Given the description of an element on the screen output the (x, y) to click on. 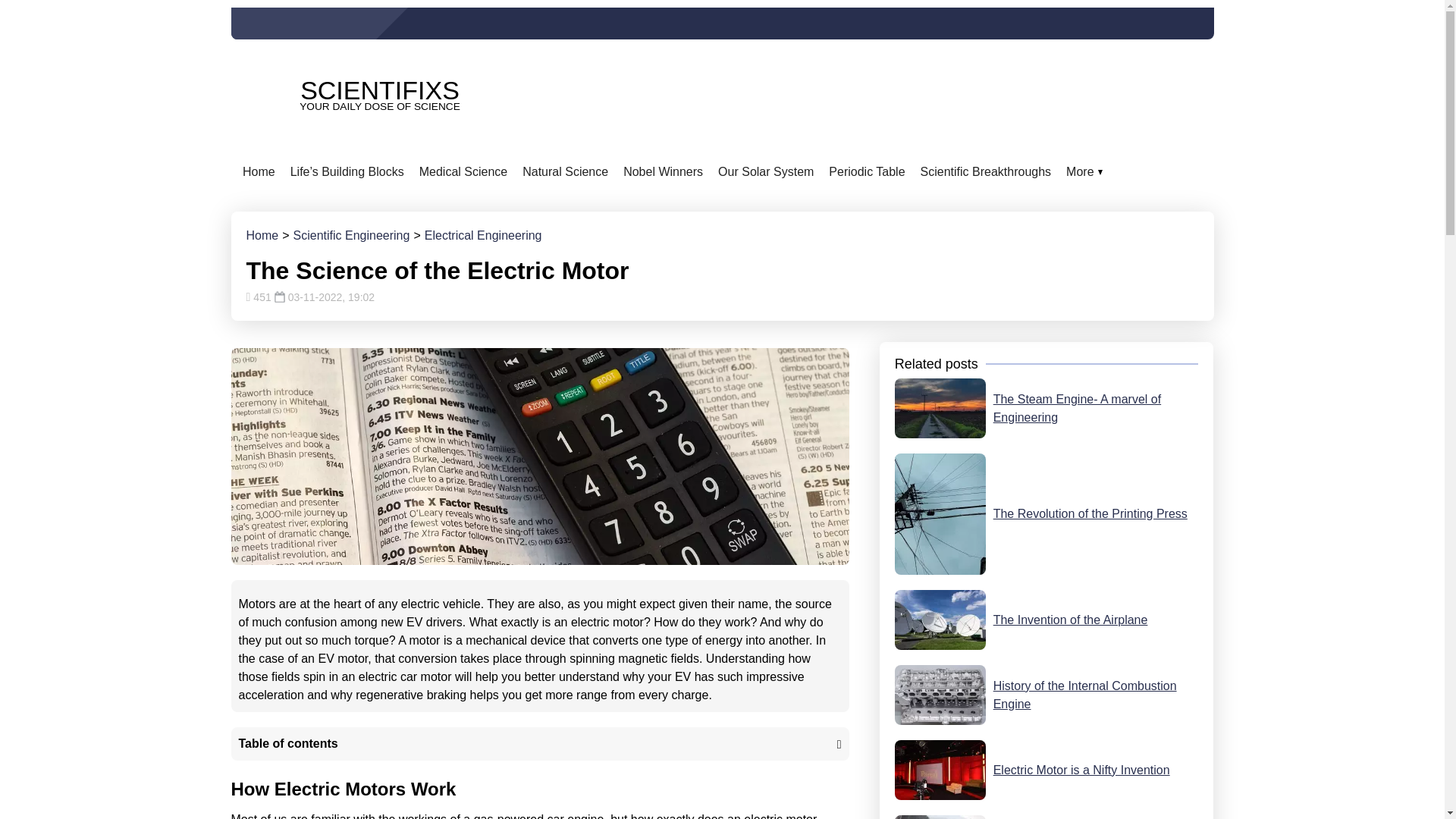
Natural Science (565, 173)
Home (262, 235)
Electrical Engineering (353, 96)
Scientific Engineering (483, 235)
Home (352, 235)
Views (258, 173)
Scientific Breakthroughs (258, 297)
More (985, 173)
Medical Science (1085, 173)
